Given the description of an element on the screen output the (x, y) to click on. 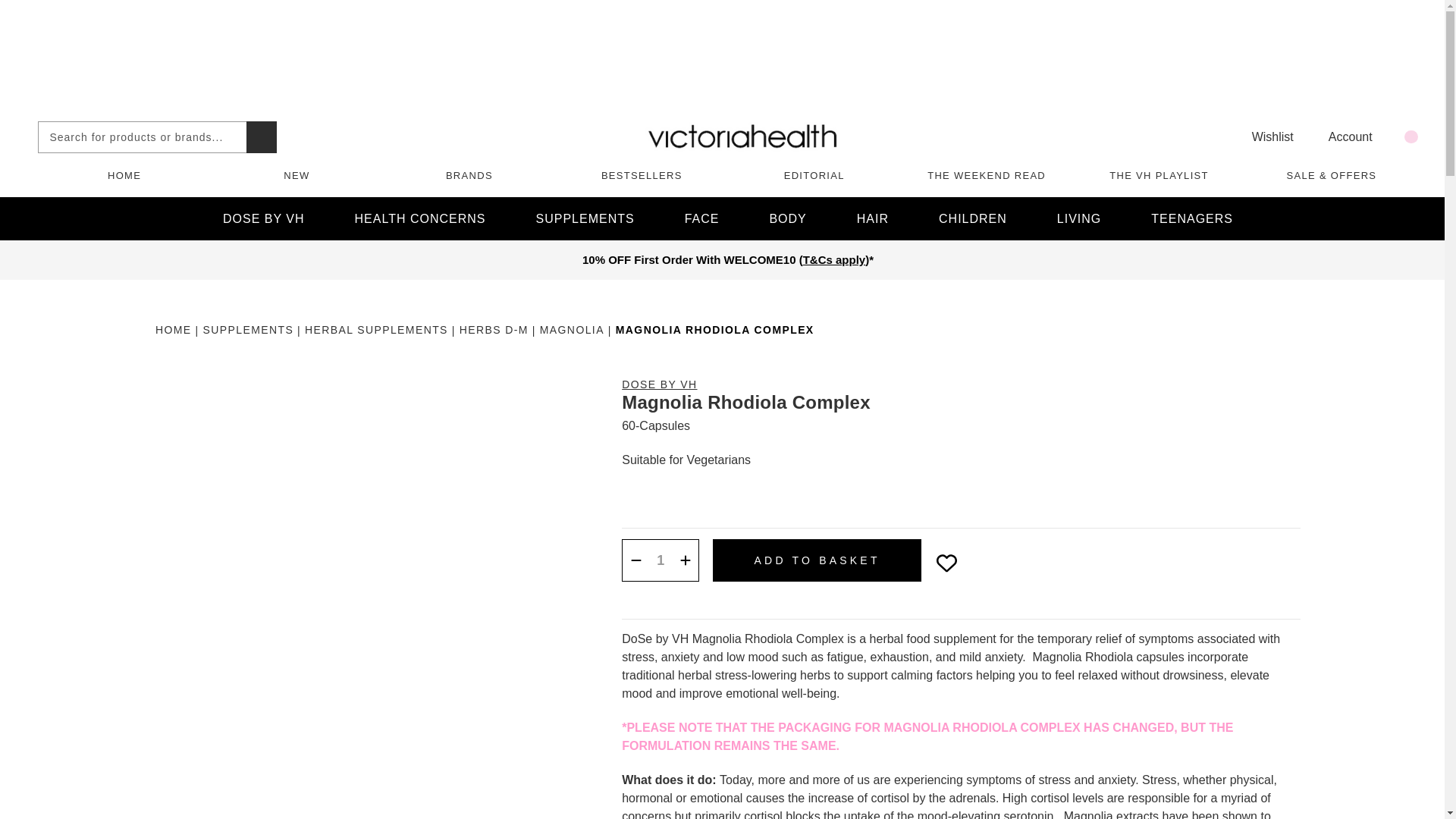
The vh playlist (1158, 174)
THE WEEKEND READ (986, 174)
New (295, 174)
Brands (469, 174)
Editorial (814, 174)
HOME (124, 174)
Victoriahealth.com Ltd (742, 137)
BODY (787, 218)
The weekend read (986, 174)
Bestsellers (641, 174)
